Given the description of an element on the screen output the (x, y) to click on. 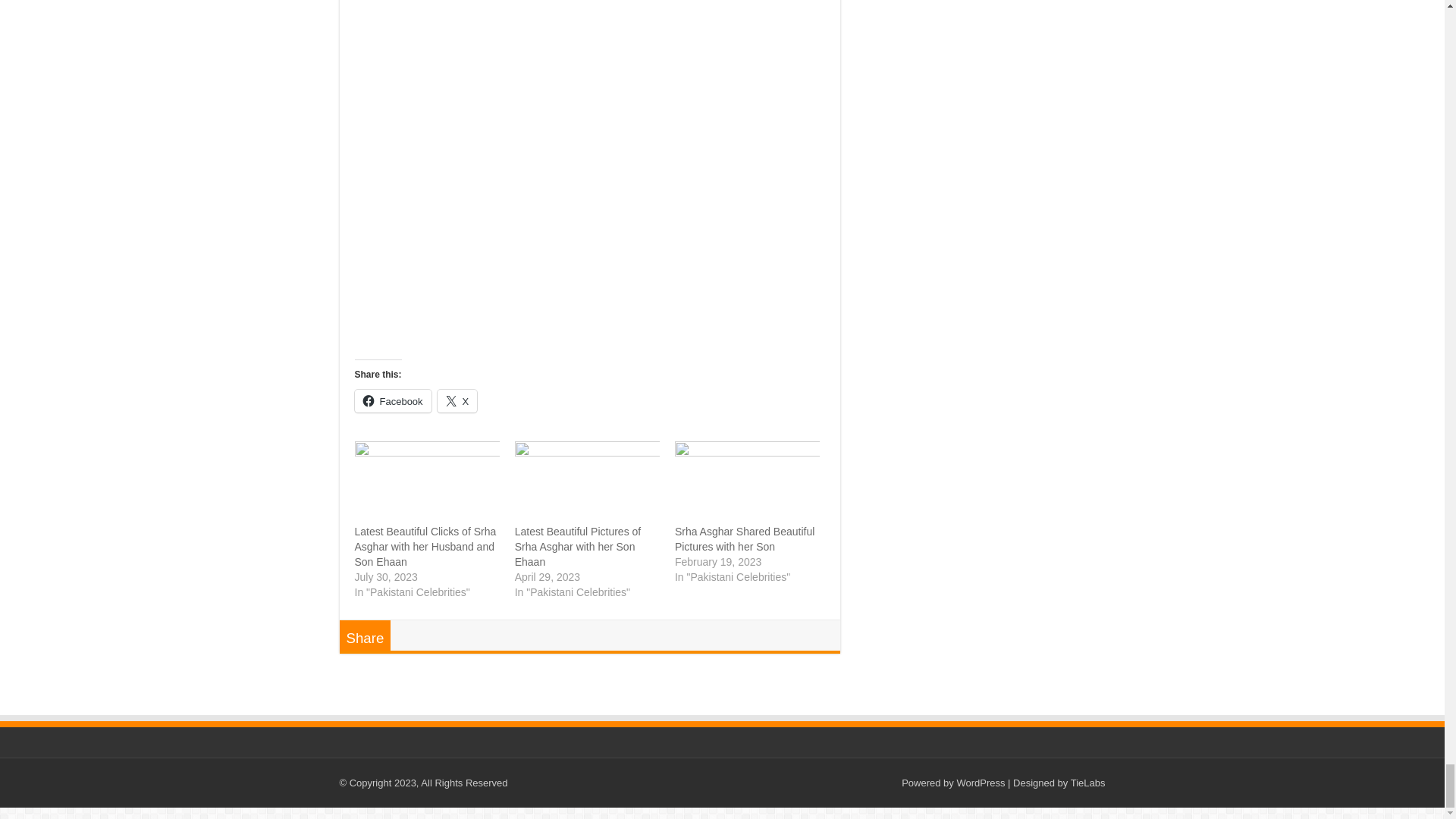
Srha Asghar Shared Beautiful Pictures with her Son (744, 538)
Click to share on Facebook (392, 400)
Click to share on X (457, 400)
Srha Asghar Shared Beautiful Pictures with her Son (744, 538)
TieLabs (1087, 782)
Srha Asghar Shared Beautiful Pictures with her Son (747, 482)
Latest Beautiful Pictures of Srha Asghar with her Son Ehaan (578, 546)
Latest Beautiful Pictures of Srha Asghar with her Son Ehaan (578, 546)
WordPress (980, 782)
Facebook (392, 400)
Latest Beautiful Pictures of Srha Asghar with her Son Ehaan (587, 482)
X (457, 400)
